Given the description of an element on the screen output the (x, y) to click on. 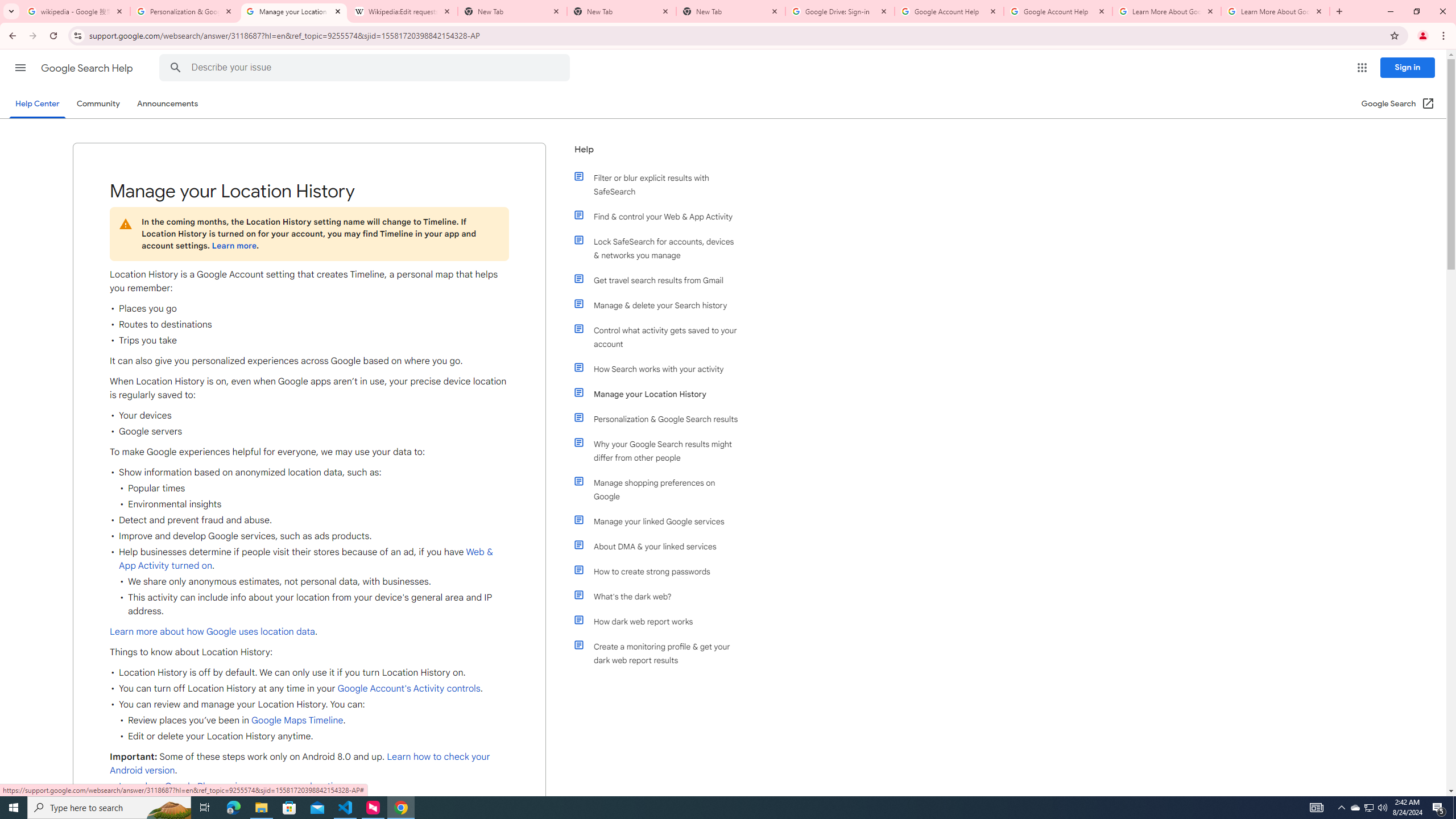
New Tab (730, 11)
Search Help Center (175, 67)
How Search works with your activity (661, 368)
Learn how to check your Android version (299, 763)
Google Drive: Sign-in (839, 11)
Announcements (168, 103)
Manage your Location History - Google Search Help (293, 11)
Google Search Help (87, 68)
How to create strong passwords (661, 571)
Learn more (233, 245)
Filter or blur explicit results with SafeSearch (661, 184)
